Given the description of an element on the screen output the (x, y) to click on. 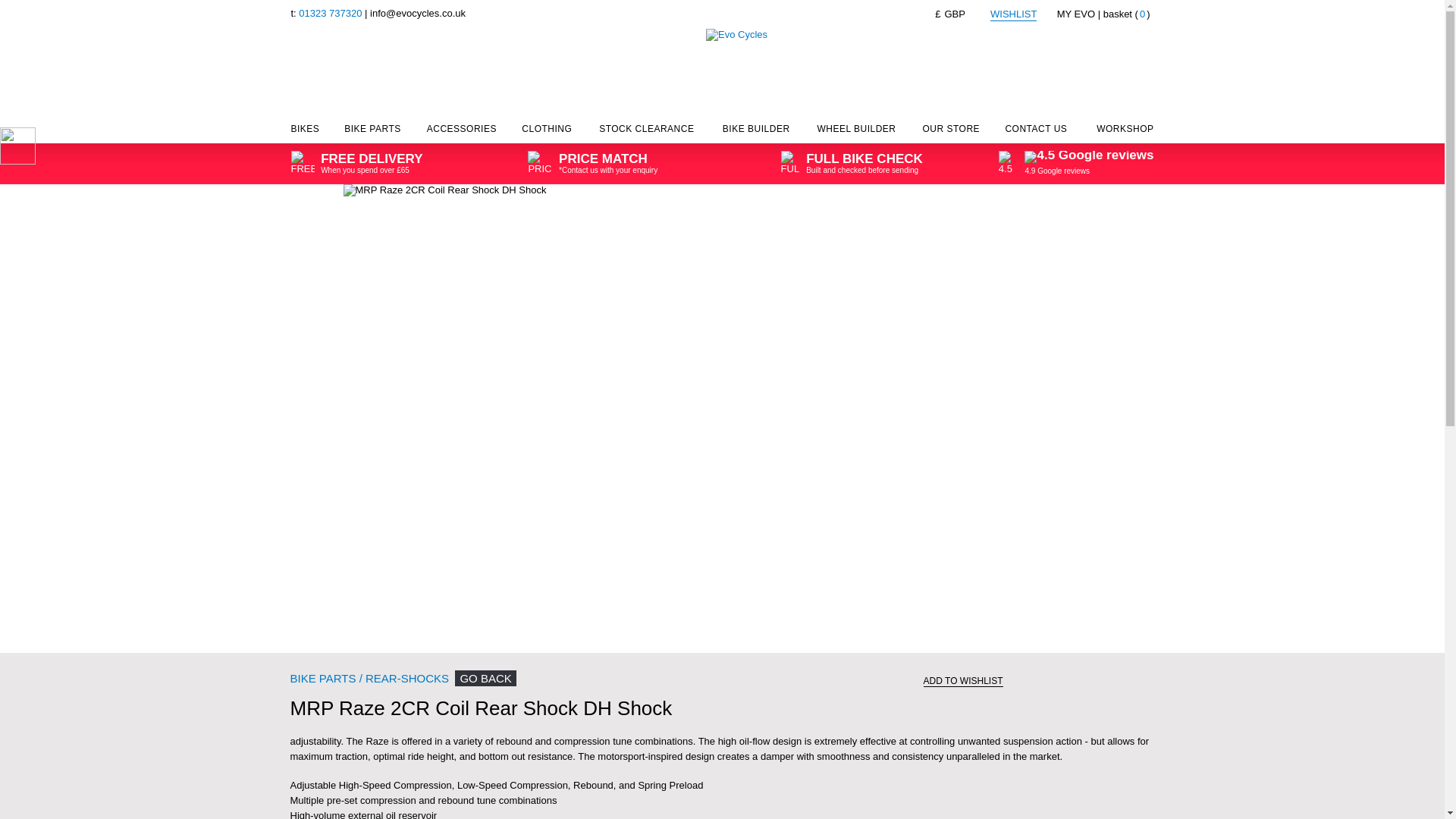
WISHLIST (1013, 14)
Send Email (417, 12)
MY EVO (1075, 13)
BIKE PARTS (372, 131)
basket (1126, 13)
BIKES (305, 131)
Evo Cycles (736, 34)
BIKES (305, 131)
Evo Cycles (736, 25)
